Given the description of an element on the screen output the (x, y) to click on. 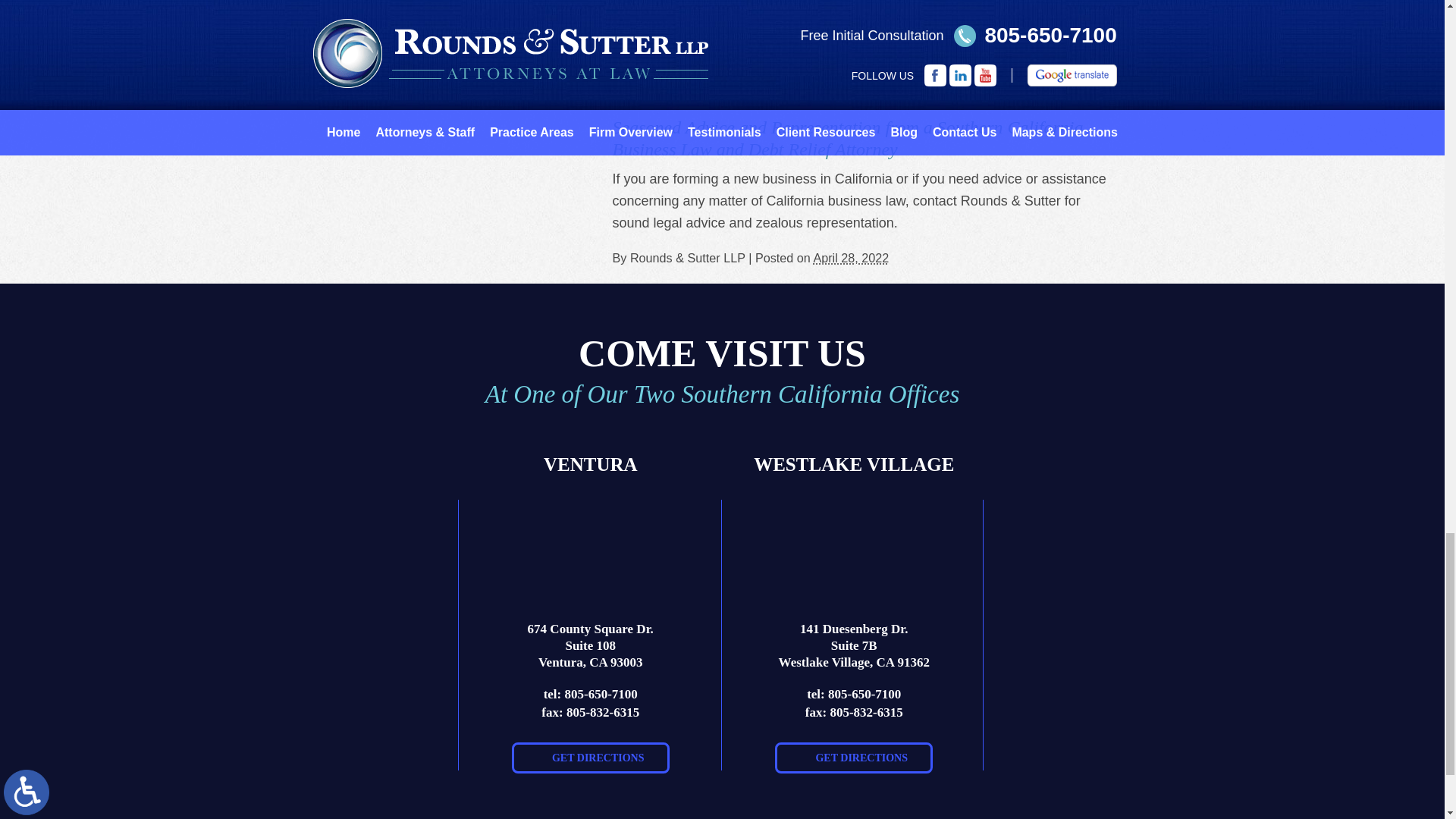
2022-04-28T10:08:11-0700 (850, 257)
